Given the description of an element on the screen output the (x, y) to click on. 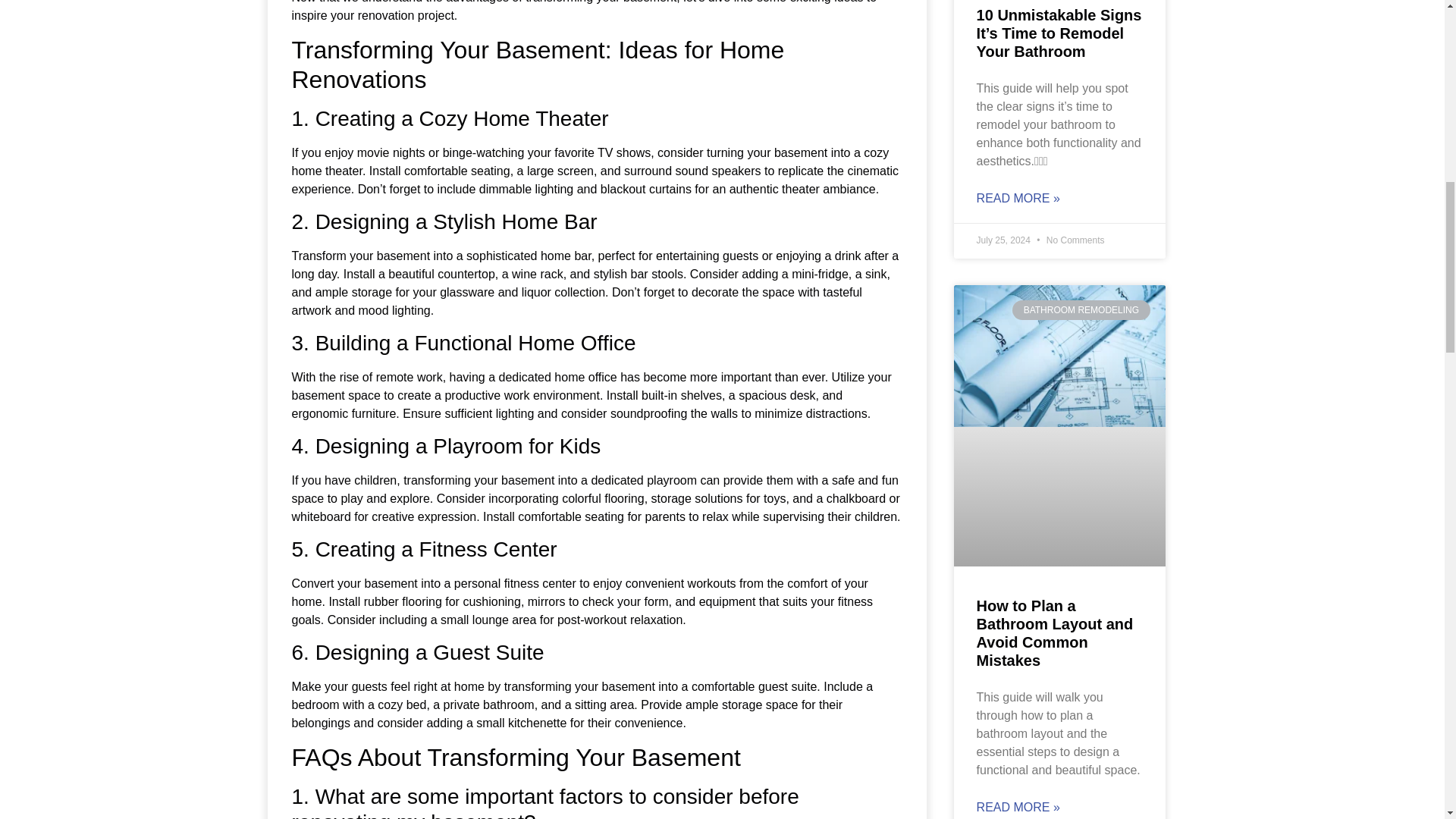
Design-plans-including-a-bathroom-renovation (1059, 355)
